Given the description of an element on the screen output the (x, y) to click on. 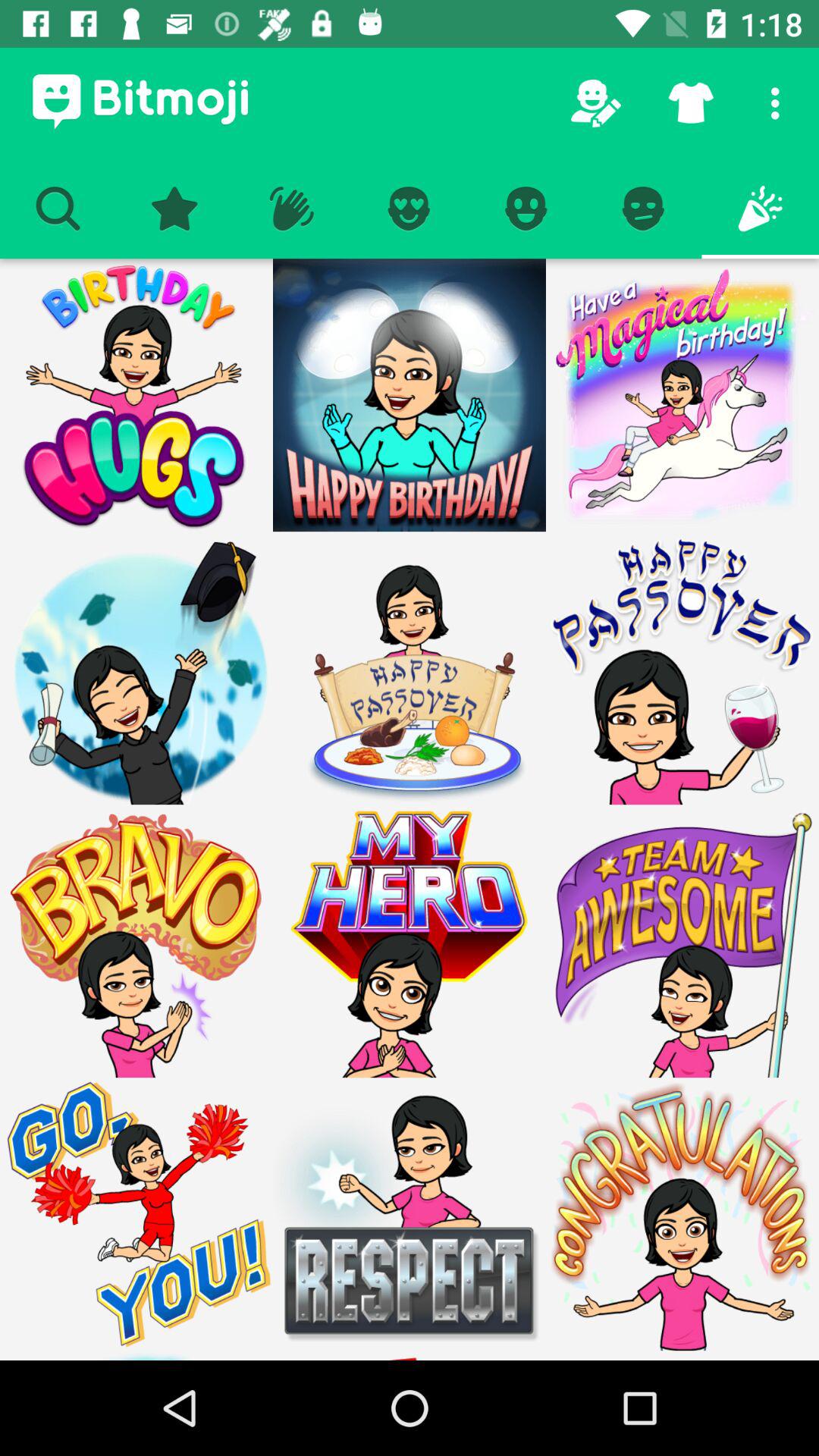
choose the option (409, 394)
